Given the description of an element on the screen output the (x, y) to click on. 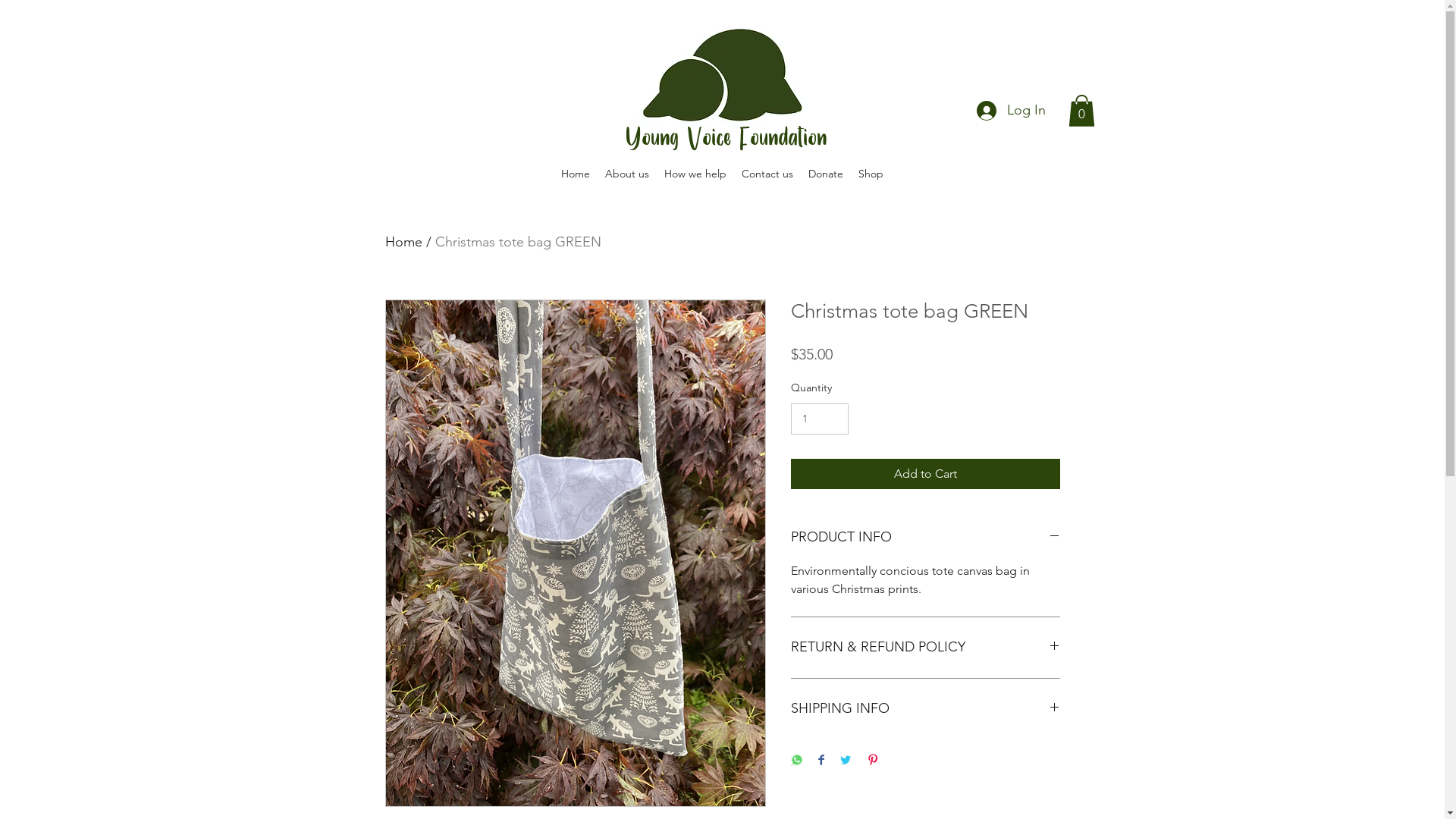
Log In Element type: text (1011, 110)
Contact us Element type: text (767, 173)
How we help Element type: text (695, 173)
PRODUCT INFO Element type: text (924, 537)
0 Element type: text (1080, 110)
SHIPPING INFO Element type: text (924, 708)
Christmas tote bag GREEN Element type: text (518, 241)
RETURN & REFUND POLICY Element type: text (924, 647)
Young Voice Foundation Element type: text (726, 138)
About us Element type: text (626, 173)
Add to Cart Element type: text (924, 473)
Home Element type: text (403, 241)
Shop Element type: text (870, 173)
Home Element type: text (575, 173)
Donate Element type: text (825, 173)
